Given the description of an element on the screen output the (x, y) to click on. 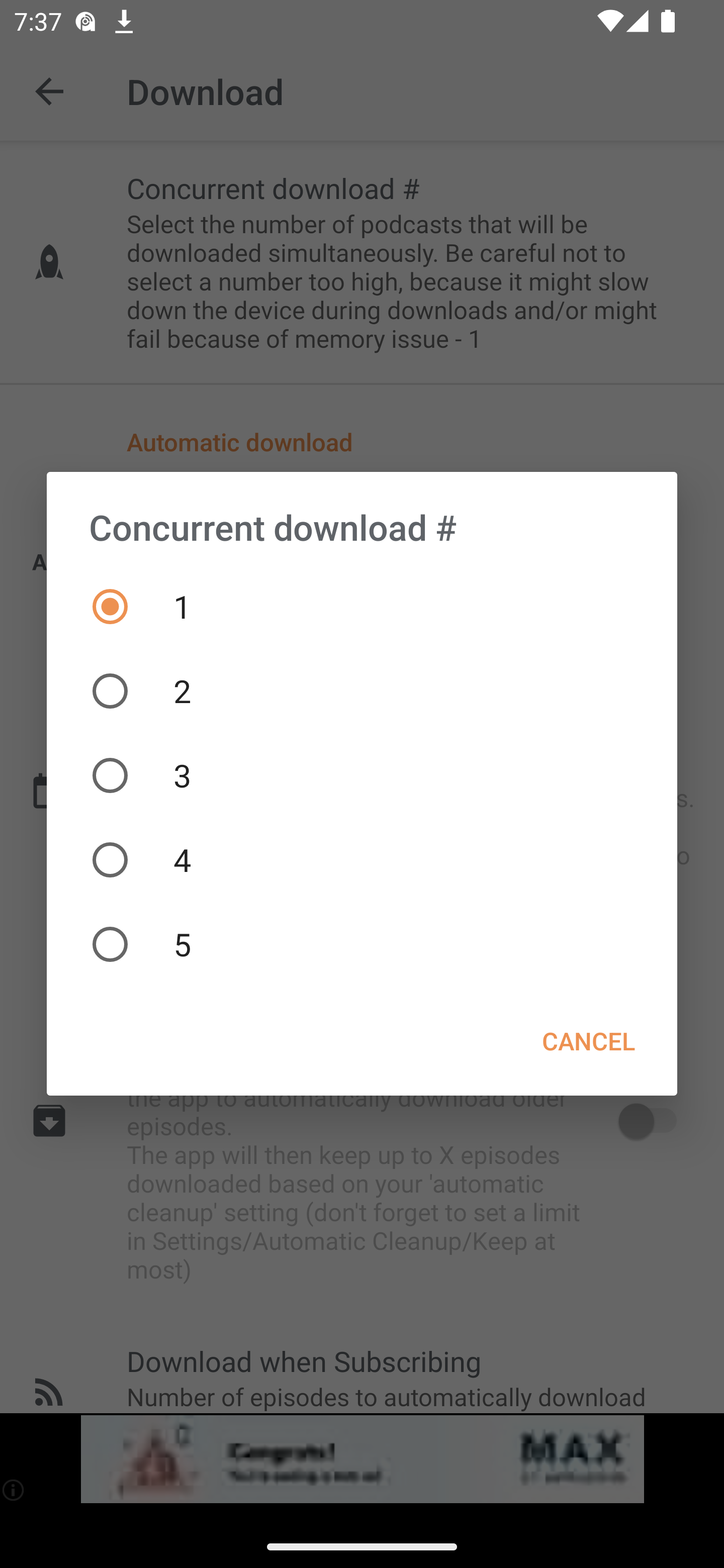
1 (361, 606)
2 (361, 691)
3 (361, 774)
4 (361, 858)
5 (361, 943)
CANCEL (587, 1041)
